Given the description of an element on the screen output the (x, y) to click on. 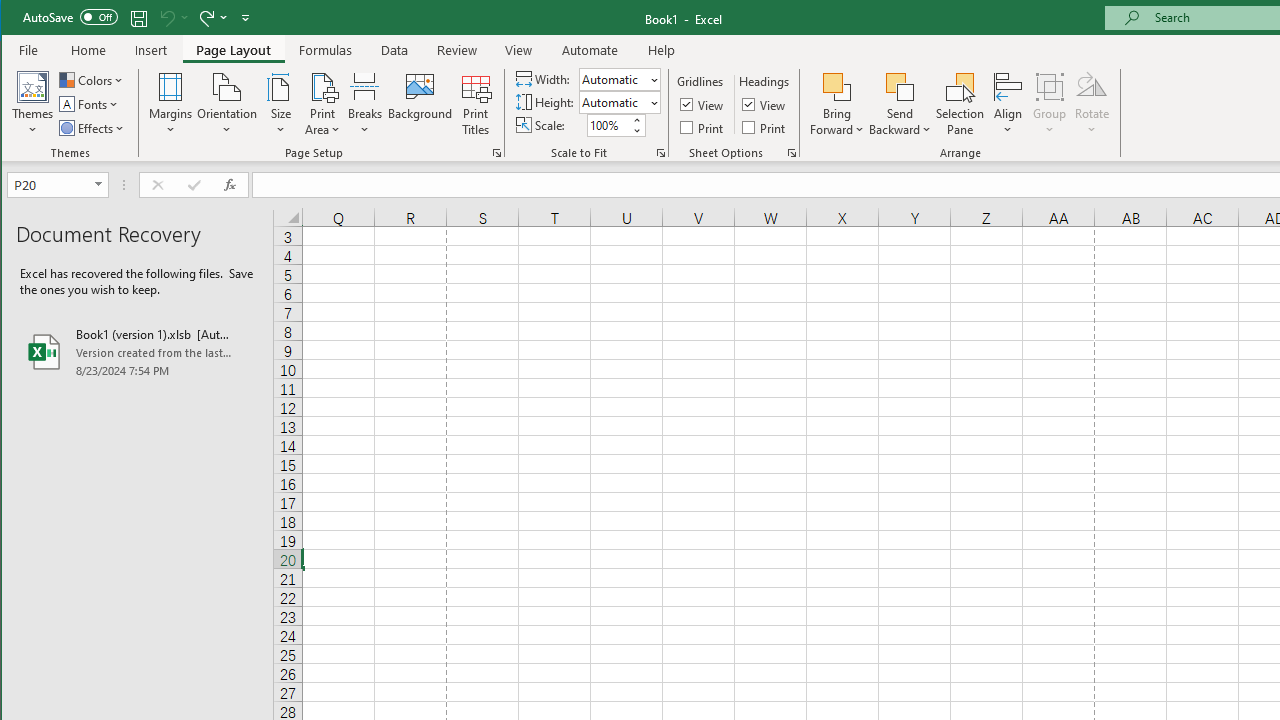
Width (619, 78)
Selection Pane... (960, 104)
Print Titles (475, 104)
Rotate (1092, 104)
Orientation (226, 104)
